Given the description of an element on the screen output the (x, y) to click on. 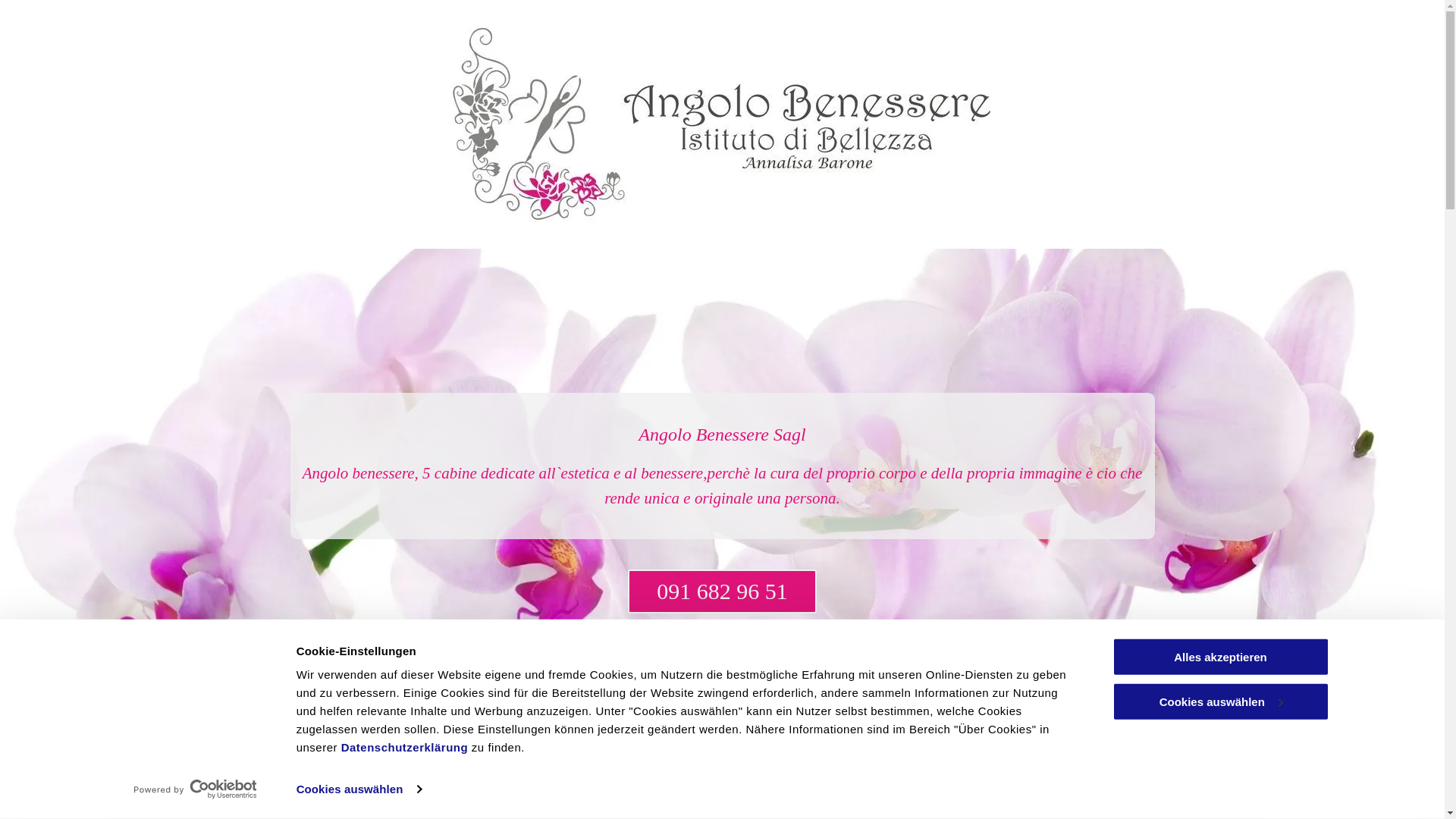
www.2gbeautycom.com Element type: text (509, 805)
091 682 96 51 Element type: text (721, 591)
Alles akzeptieren Element type: text (1219, 656)
